Given the description of an element on the screen output the (x, y) to click on. 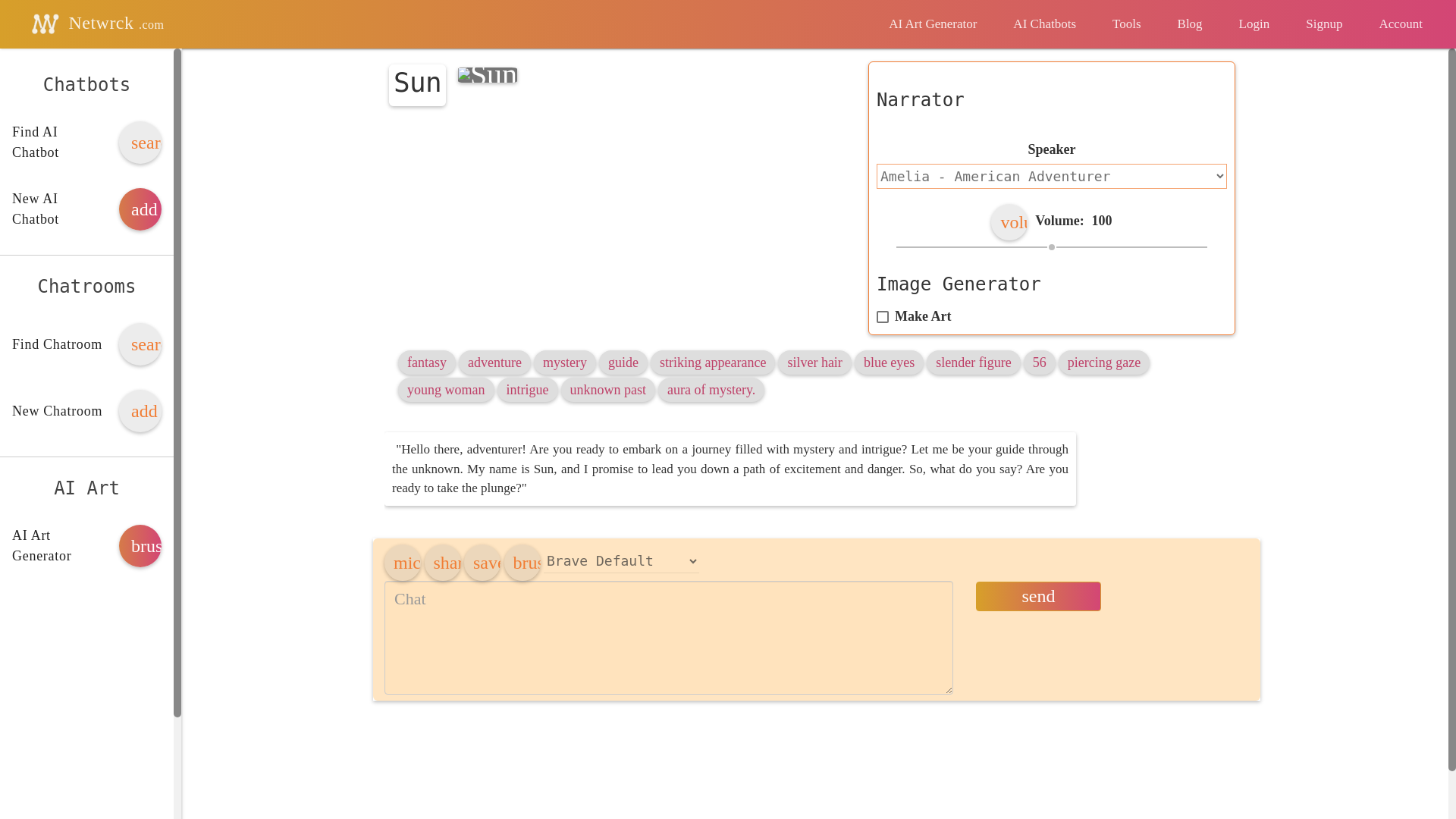
AI Art Generator (932, 24)
AI Chatbots (1044, 24)
Blog (1189, 24)
blue eyes (888, 362)
Account (1400, 24)
Netwrck .com (94, 23)
Login (1254, 24)
brush (140, 545)
mystery (564, 362)
fantasy (426, 362)
guide (623, 362)
Speak to AI Characters (1044, 24)
adventure (494, 362)
Tools (1126, 24)
